Given the description of an element on the screen output the (x, y) to click on. 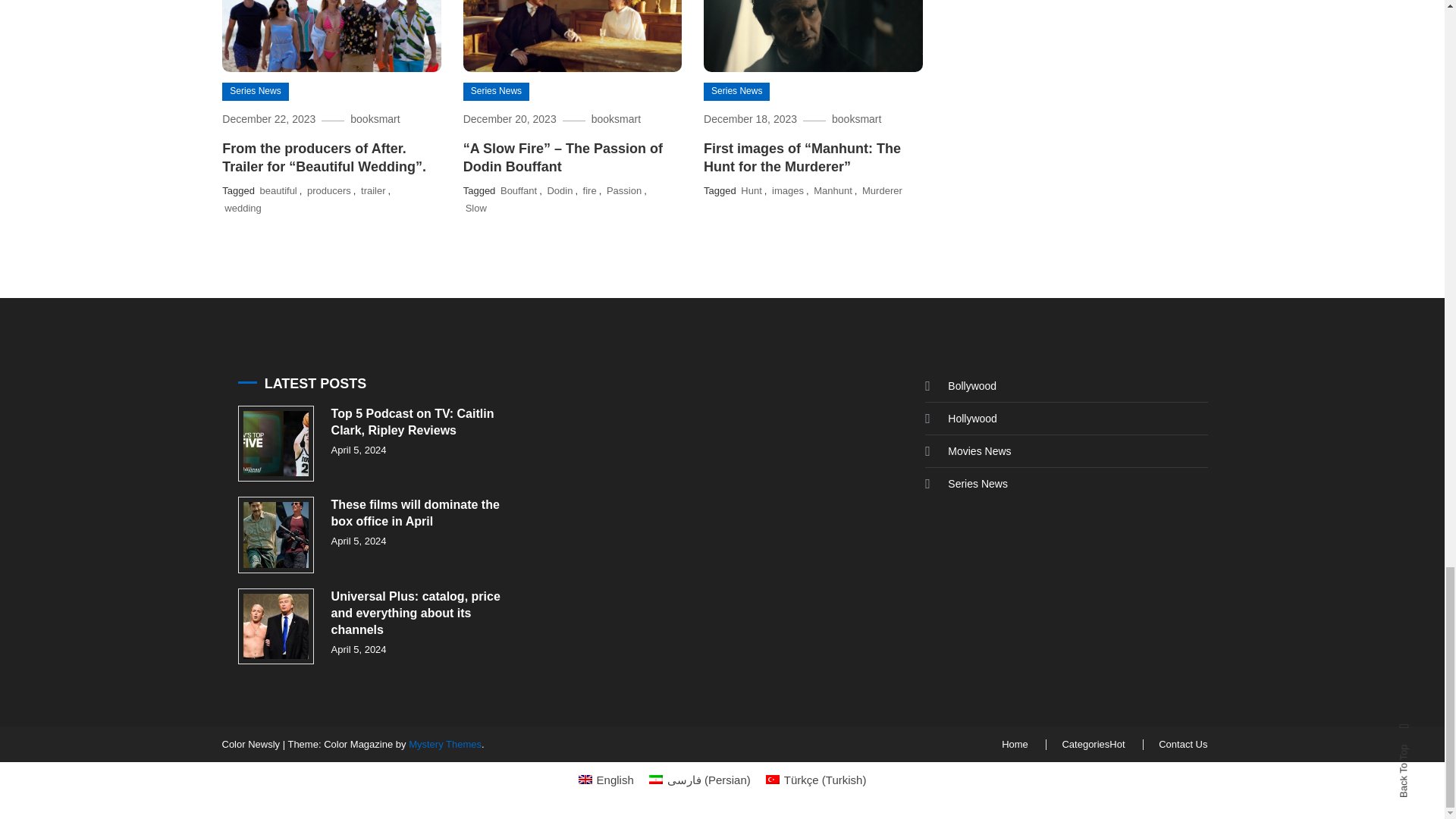
Top 5 Podcast on TV: Caitlin Clark, Ripley Reviews (276, 443)
These films will dominate the box office in April (276, 534)
